Given the description of an element on the screen output the (x, y) to click on. 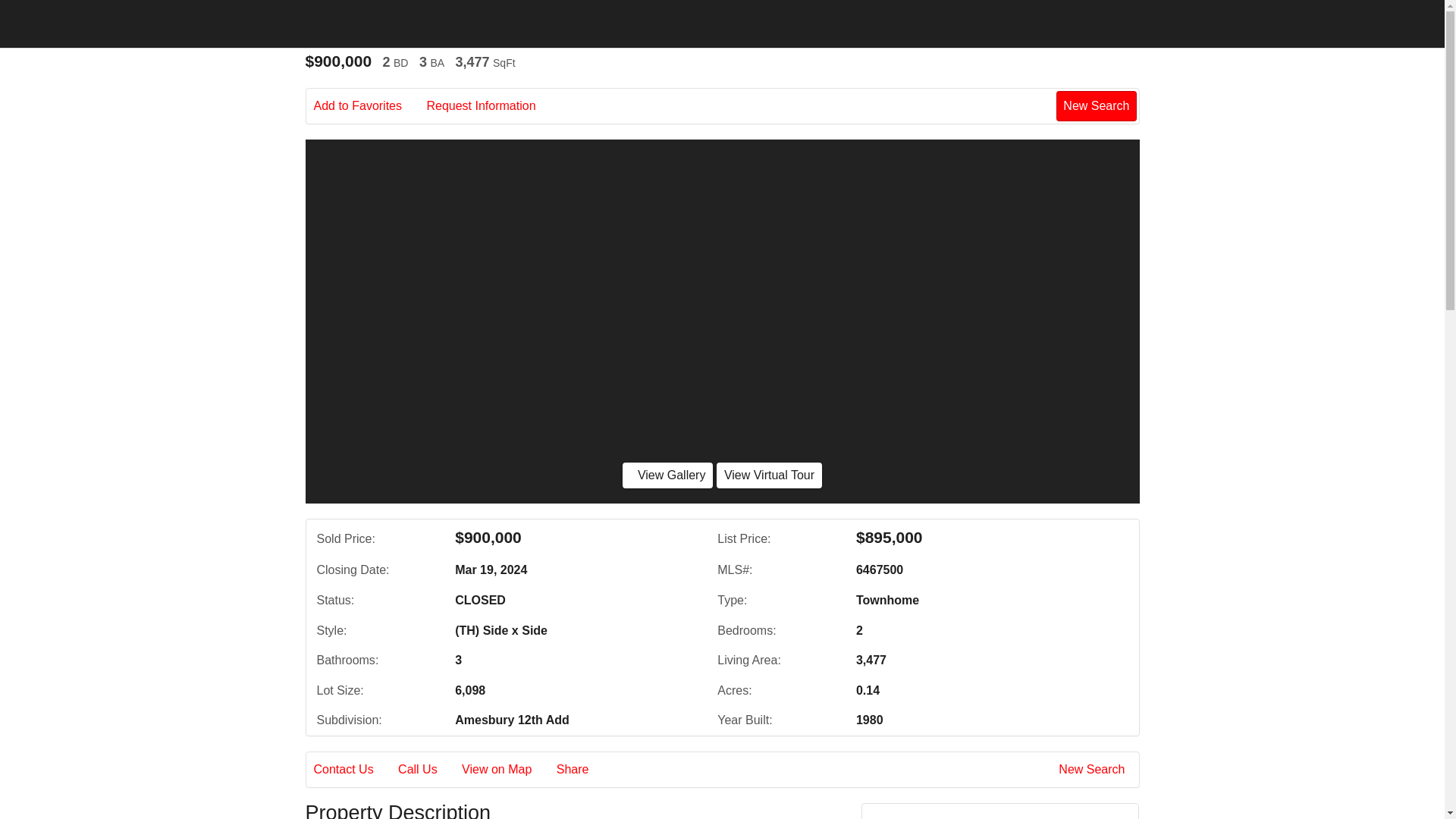
New Search (1096, 105)
Request Information (491, 106)
Add to Favorites (368, 106)
New Search (1094, 769)
Share (583, 769)
View Gallery (668, 475)
Contact Us (354, 769)
View Virtual Tour (769, 474)
View Gallery (668, 474)
Call Us (427, 769)
